Given the description of an element on the screen output the (x, y) to click on. 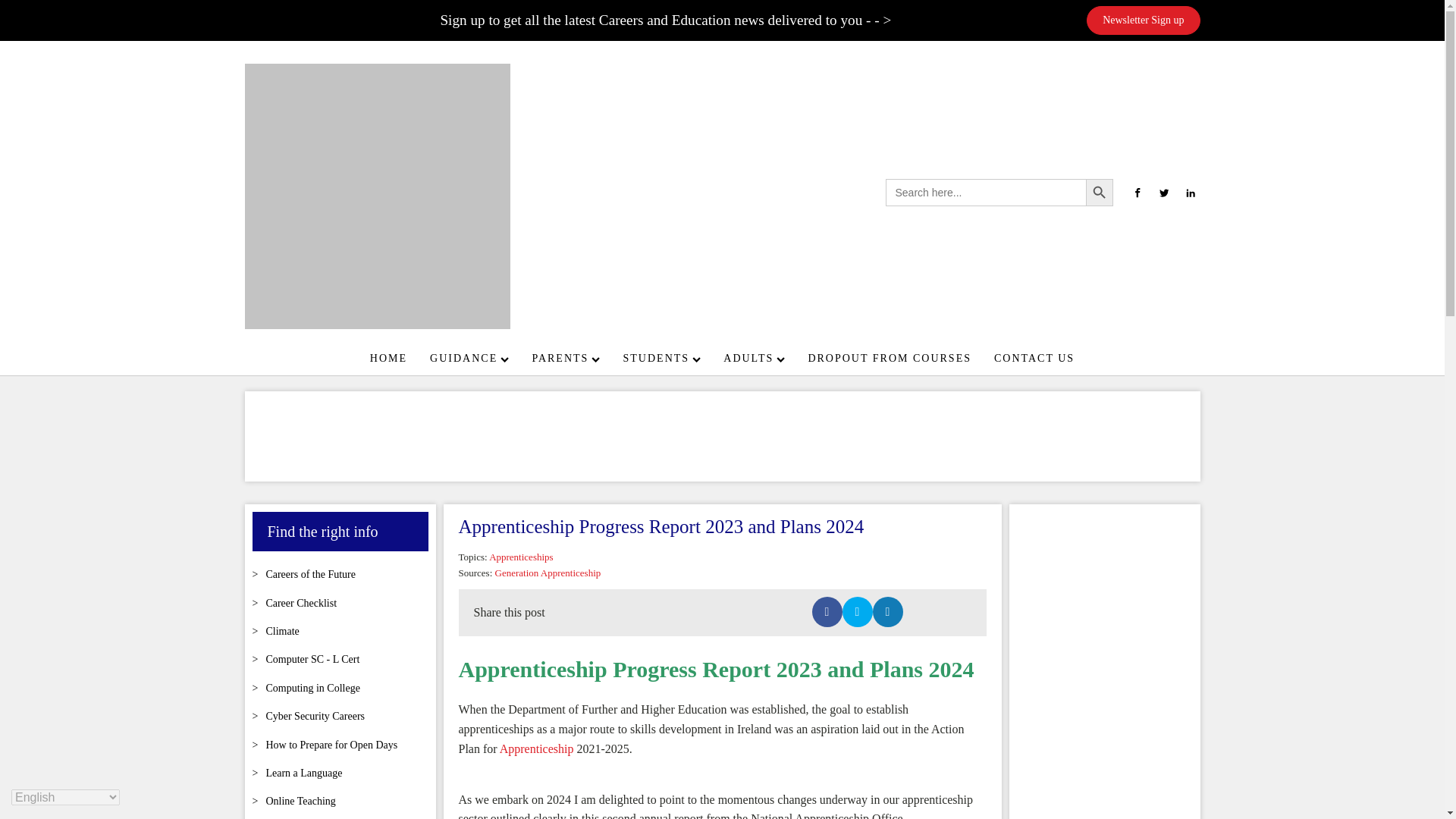
PARENTS (565, 358)
Newsletter Sign up (1142, 20)
HOME (388, 358)
STUDENTS (662, 358)
GUIDANCE (469, 358)
Search Button (1099, 192)
